Given the description of an element on the screen output the (x, y) to click on. 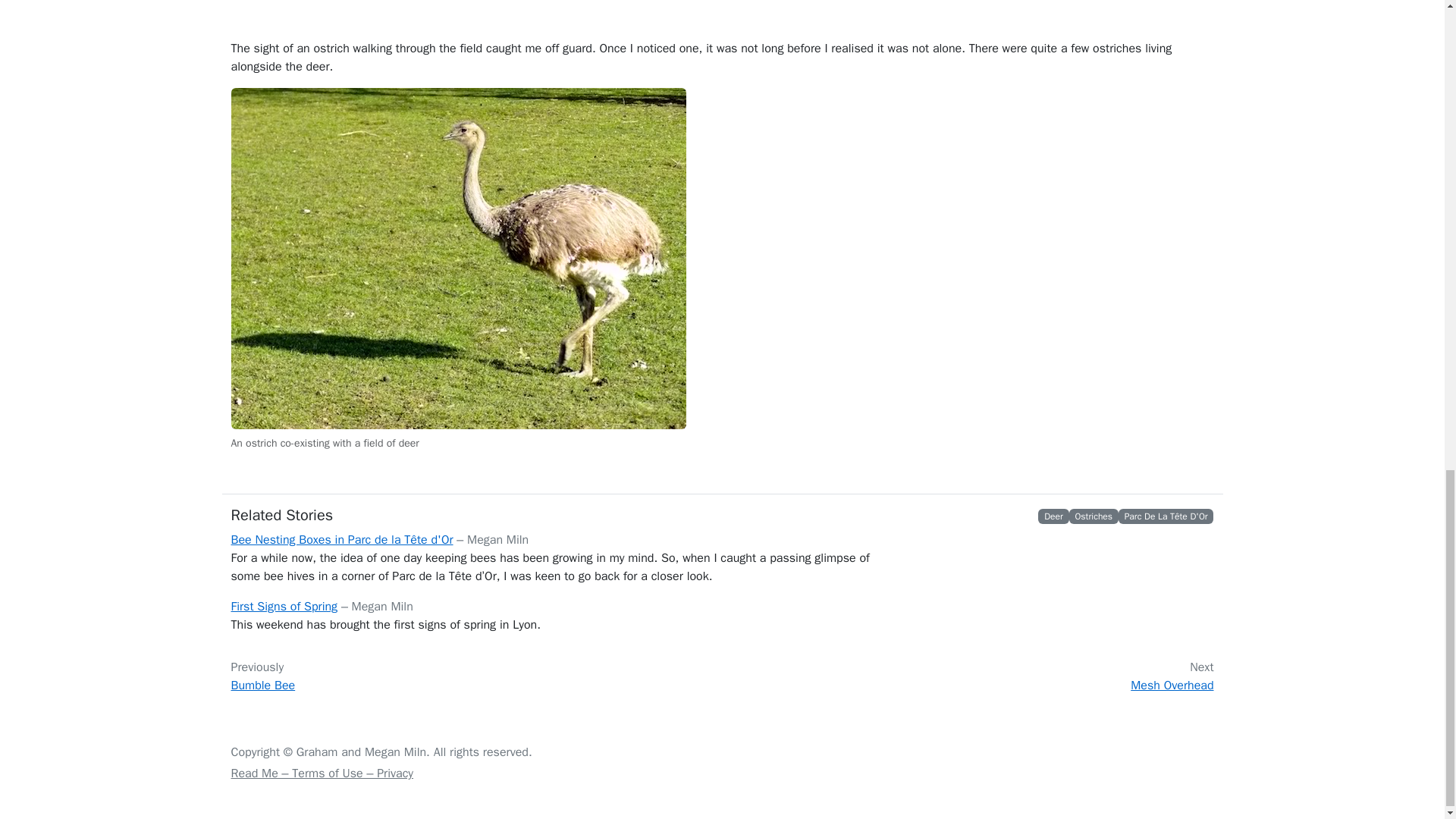
YouTube video (721, 19)
Ostriches (1093, 516)
First Signs of Spring (283, 606)
Bumble Bee (262, 685)
Deer (1052, 516)
Mesh Overhead (1171, 685)
